Given the description of an element on the screen output the (x, y) to click on. 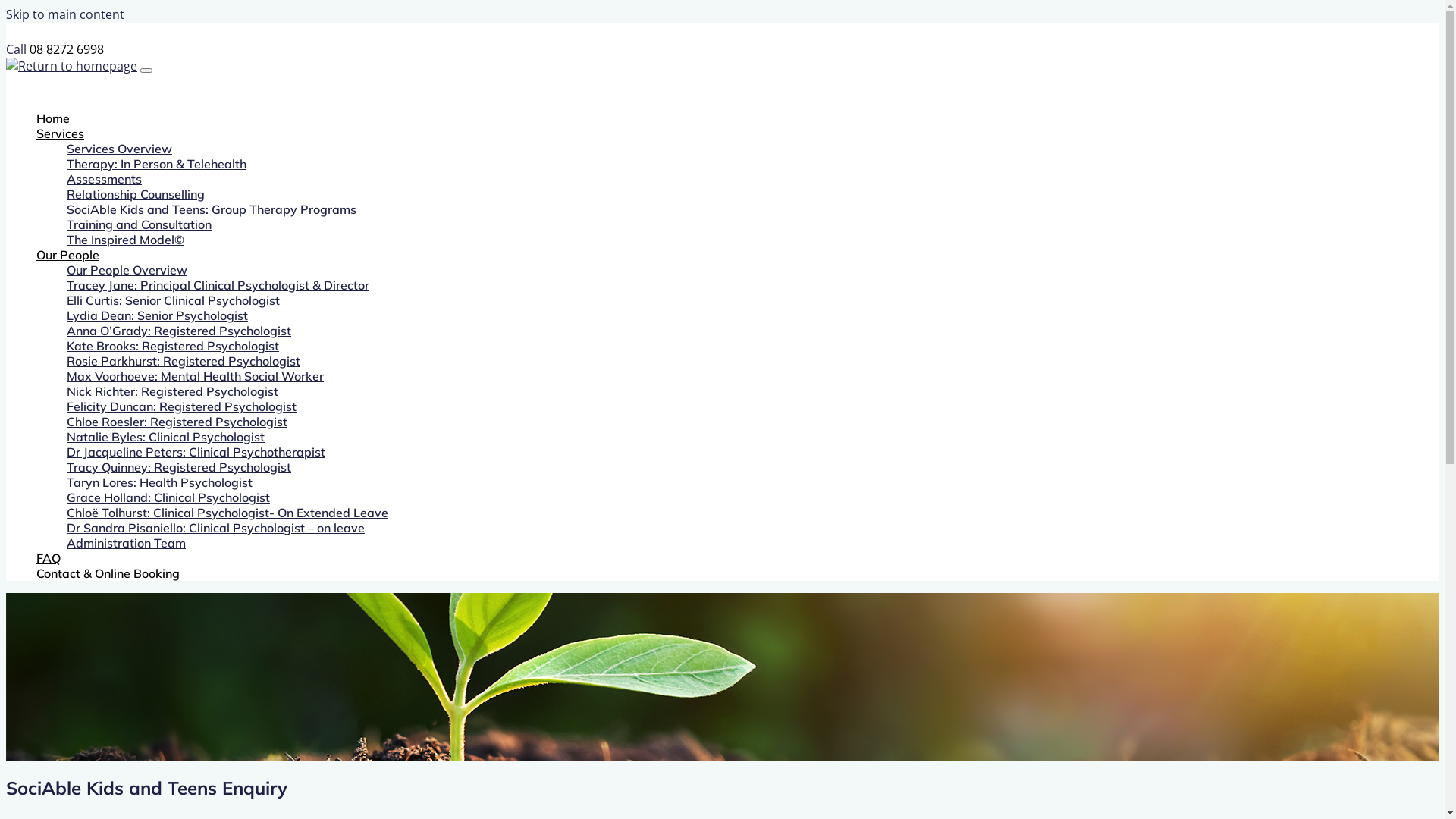
Therapy: In Person & Telehealth Element type: text (156, 163)
Grace Holland: Clinical Psychologist Element type: text (167, 497)
FAQ Element type: text (48, 557)
Dr Jacqueline Peters: Clinical Psychotherapist Element type: text (195, 451)
Training and Consultation Element type: text (138, 224)
Our People Element type: text (67, 254)
Skip to main content Element type: text (65, 14)
Administration Team Element type: text (125, 542)
Call 08 8272 6998 Element type: text (54, 48)
Services Element type: text (60, 133)
Nick Richter: Registered Psychologist Element type: text (172, 390)
Our People Overview Element type: text (126, 269)
Contact & Online Booking Element type: text (107, 572)
Tracey Jane: Principal Clinical Psychologist & Director Element type: text (217, 284)
Tracy Quinney: Registered Psychologist Element type: text (178, 466)
Assessments Element type: text (103, 178)
Taryn Lores: Health Psychologist Element type: text (159, 481)
Elli Curtis: Senior Clinical Psychologist Element type: text (172, 299)
Kate Brooks: Registered Psychologist Element type: text (172, 345)
Services Overview Element type: text (119, 148)
Max Voorhoeve: Mental Health Social Worker Element type: text (194, 375)
Home Element type: text (52, 117)
Felicity Duncan: Registered Psychologist Element type: text (181, 406)
Relationship Counselling Element type: text (135, 193)
SociAble Kids and Teens: Group Therapy Programs Element type: text (211, 208)
Chloe Roesler: Registered Psychologist Element type: text (176, 421)
Rosie Parkhurst: Registered Psychologist Element type: text (183, 360)
Natalie Byles: Clinical Psychologist Element type: text (165, 436)
Lydia Dean: Senior Psychologist Element type: text (156, 315)
